Given the description of an element on the screen output the (x, y) to click on. 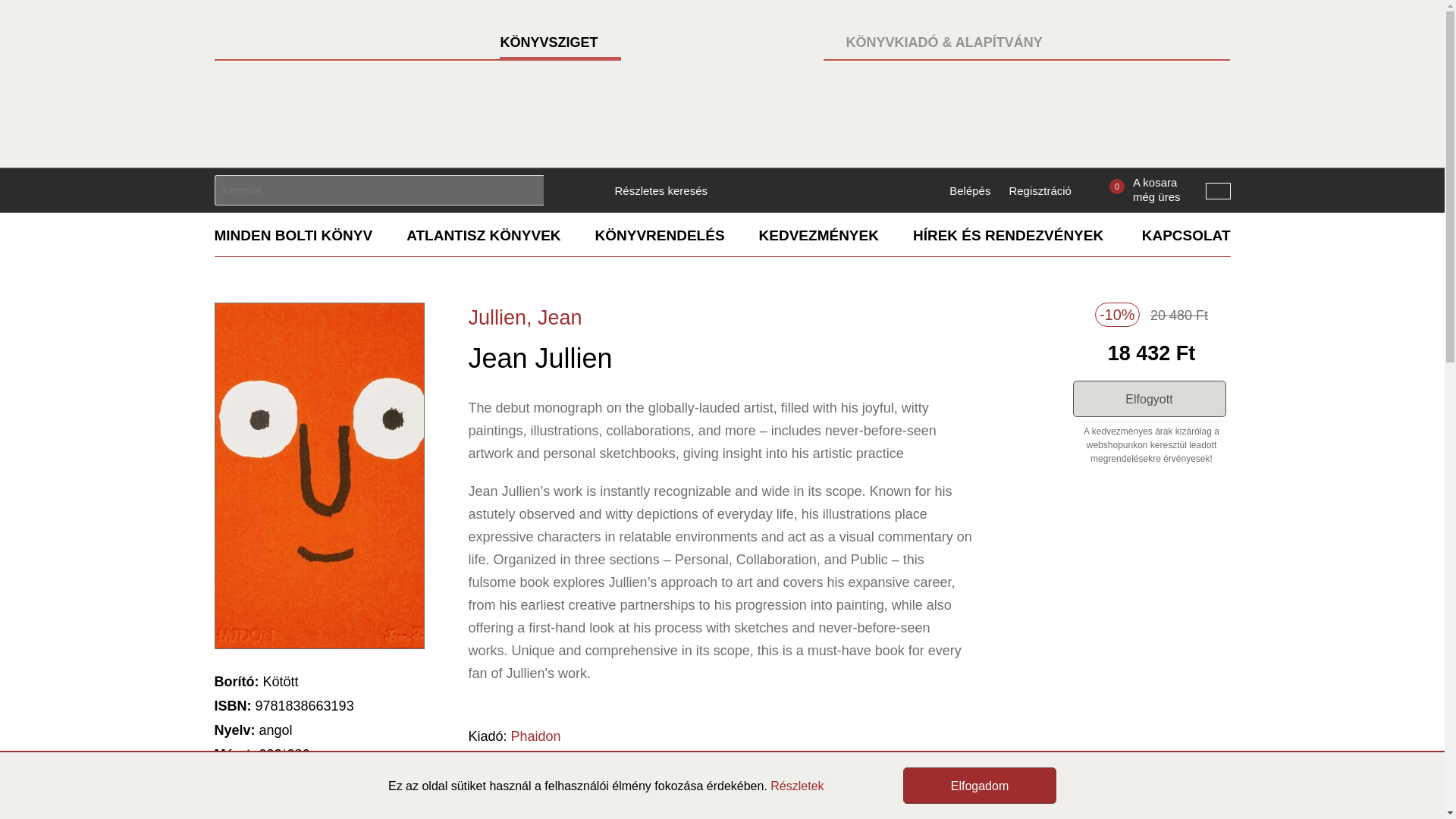
English version (1217, 190)
KAPCSOLAT (1185, 235)
